Given the description of an element on the screen output the (x, y) to click on. 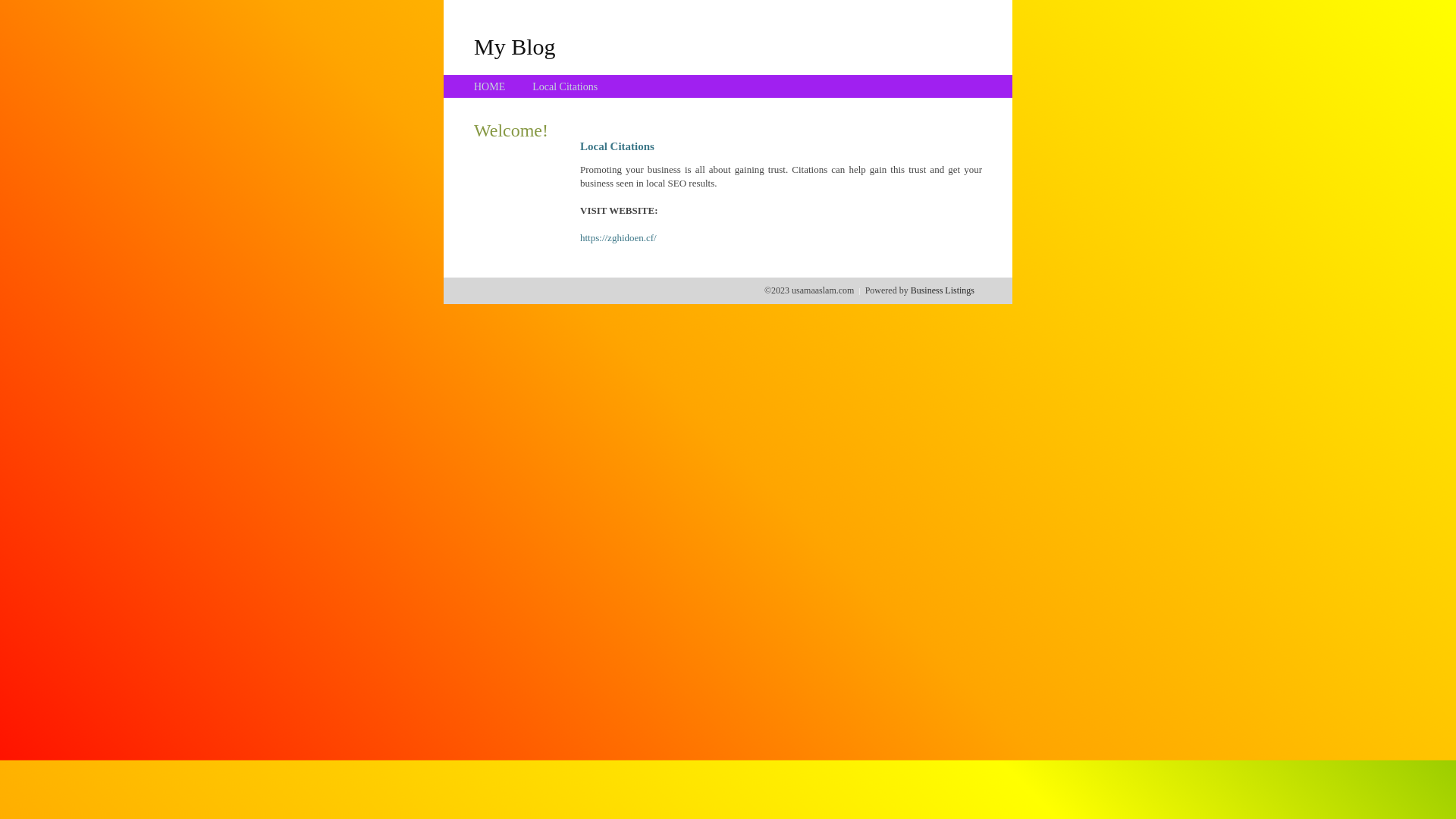
Local Citations Element type: text (564, 86)
Business Listings Element type: text (942, 290)
My Blog Element type: text (514, 46)
HOME Element type: text (489, 86)
https://zghidoen.cf/ Element type: text (618, 237)
